Given the description of an element on the screen output the (x, y) to click on. 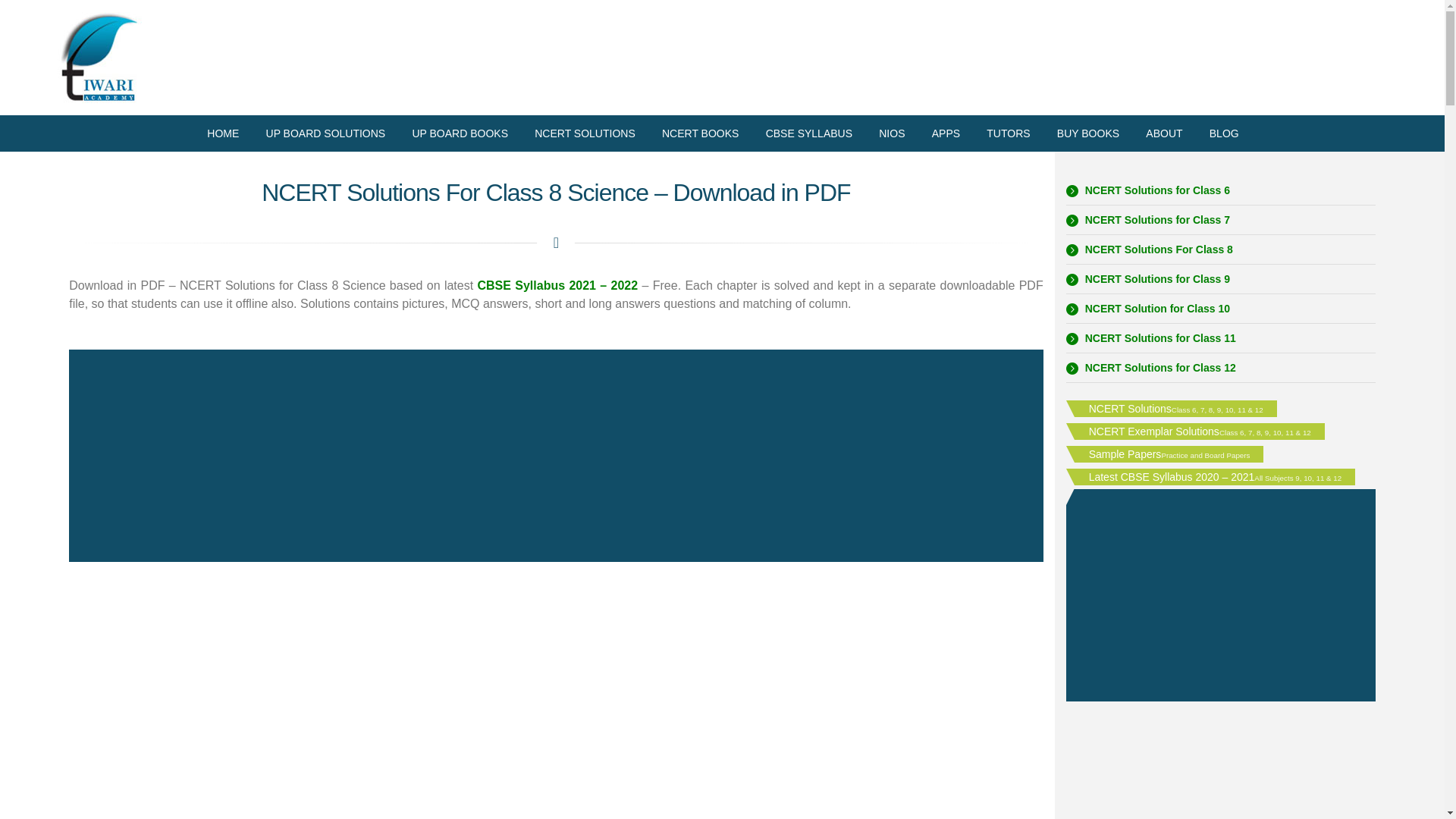
CBSE SYLLABUS (808, 133)
NIOS (891, 133)
UP BOARD BOOKS (459, 133)
Advertisement (1220, 767)
UP BOARD SOLUTIONS (325, 133)
APPS (945, 133)
NCERT SOLUTIONS (585, 133)
ABOUT (1164, 133)
HOME (223, 133)
